Given the description of an element on the screen output the (x, y) to click on. 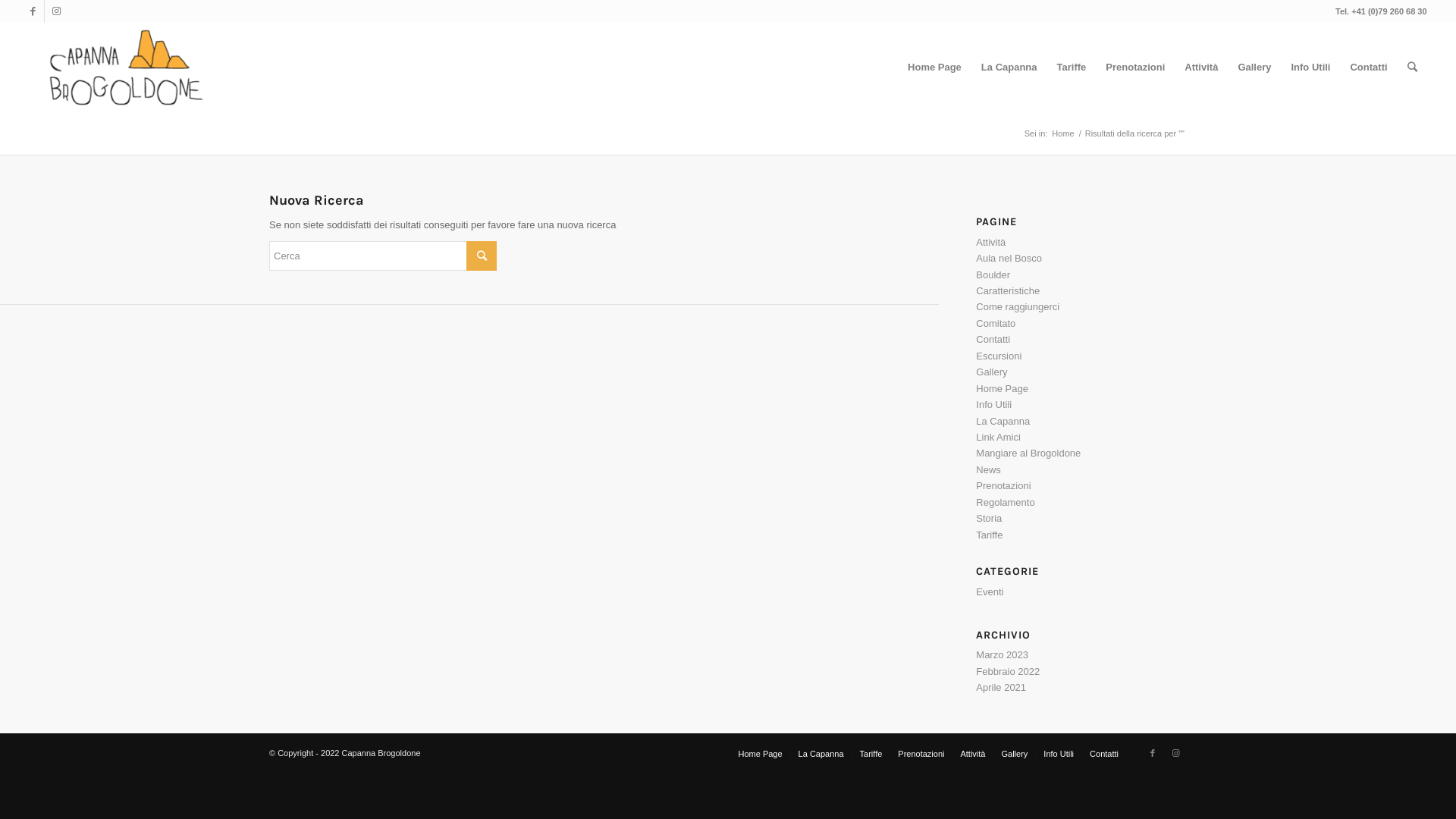
Gallery Element type: text (991, 371)
Comitato Element type: text (995, 323)
Instagram Element type: hover (55, 11)
Caratteristiche Element type: text (1007, 290)
Gallery Element type: text (1014, 753)
Prenotazioni Element type: text (1134, 67)
Eventi Element type: text (989, 591)
Gallery Element type: text (1253, 67)
Contatti Element type: text (1367, 67)
Tariffe Element type: text (870, 753)
Febbraio 2022 Element type: text (1007, 671)
La Capanna Element type: text (821, 753)
Home Page Element type: text (934, 67)
Facebook Element type: hover (32, 11)
Info Utili Element type: text (1309, 67)
Storia Element type: text (988, 518)
Link Amici Element type: text (997, 436)
Info Utili Element type: text (993, 404)
Home Element type: text (1062, 133)
Escursioni Element type: text (998, 355)
Aula nel Bosco Element type: text (1008, 257)
Info Utili Element type: text (1058, 753)
Tariffe Element type: text (988, 534)
Mangiare al Brogoldone Element type: text (1027, 452)
Aprile 2021 Element type: text (1000, 687)
Instagram Element type: hover (1175, 752)
Home Page Element type: text (760, 753)
Home Page Element type: text (1001, 388)
Regolamento Element type: text (1004, 502)
Prenotazioni Element type: text (920, 753)
Contatti Element type: text (1103, 753)
Boulder Element type: text (992, 274)
Marzo 2023 Element type: text (1001, 654)
Prenotazioni Element type: text (1002, 485)
La Capanna Element type: text (1009, 67)
Come raggiungerci Element type: text (1017, 306)
Contatti Element type: text (992, 339)
Tariffe Element type: text (1071, 67)
Facebook Element type: hover (1152, 752)
News Element type: text (988, 469)
La Capanna Element type: text (1002, 420)
